Given the description of an element on the screen output the (x, y) to click on. 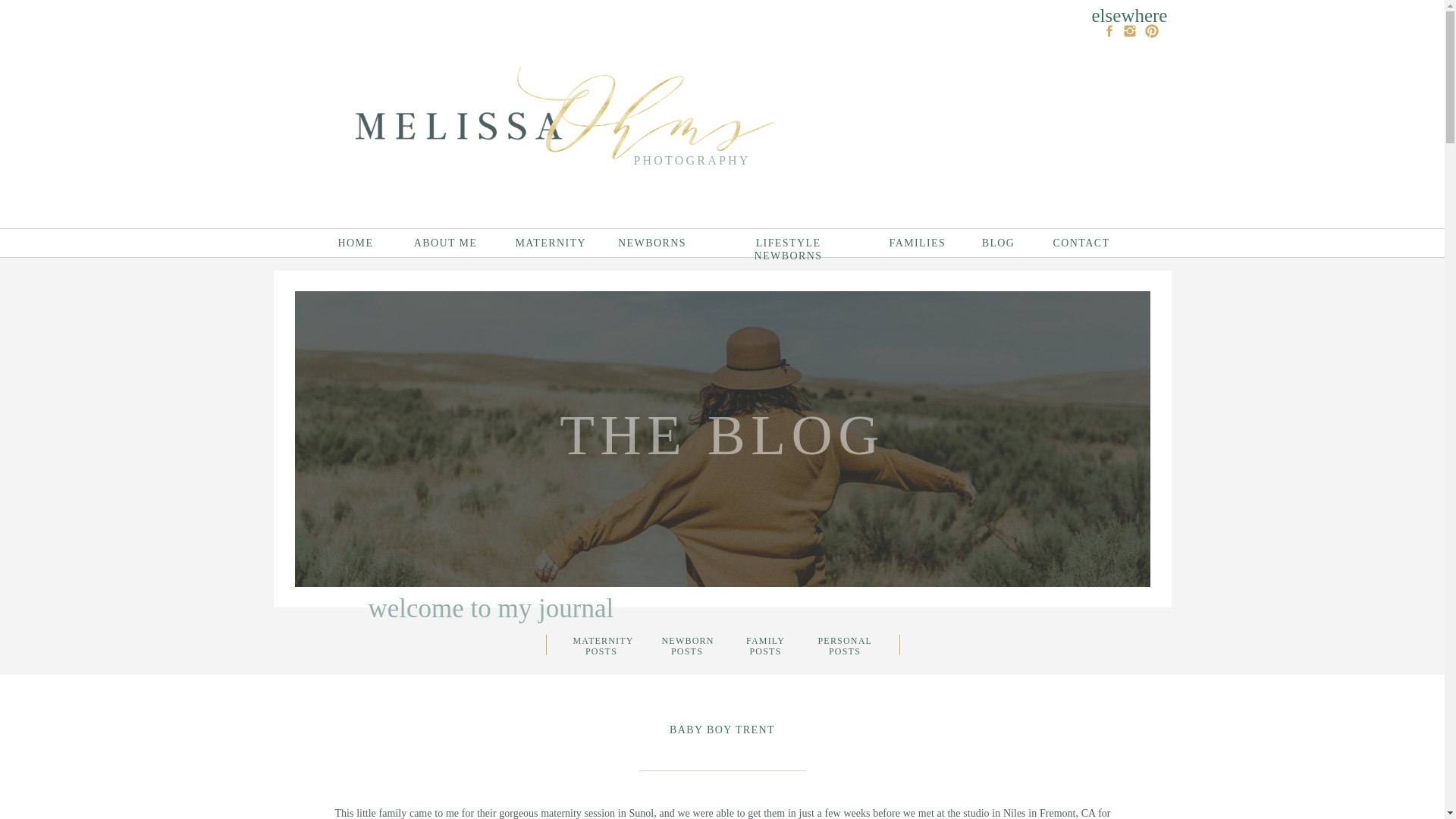
FAMILY POSTS (765, 645)
MATERNITY POSTS (601, 645)
LIFESTYLE NEWBORNS (788, 242)
NEWBORN POSTS (686, 645)
NEWBORNS (651, 242)
HOME (354, 242)
MATERNITY (547, 242)
FAMILIES (915, 242)
PERSONAL POSTS (843, 645)
CONTACT (1080, 242)
